Given the description of an element on the screen output the (x, y) to click on. 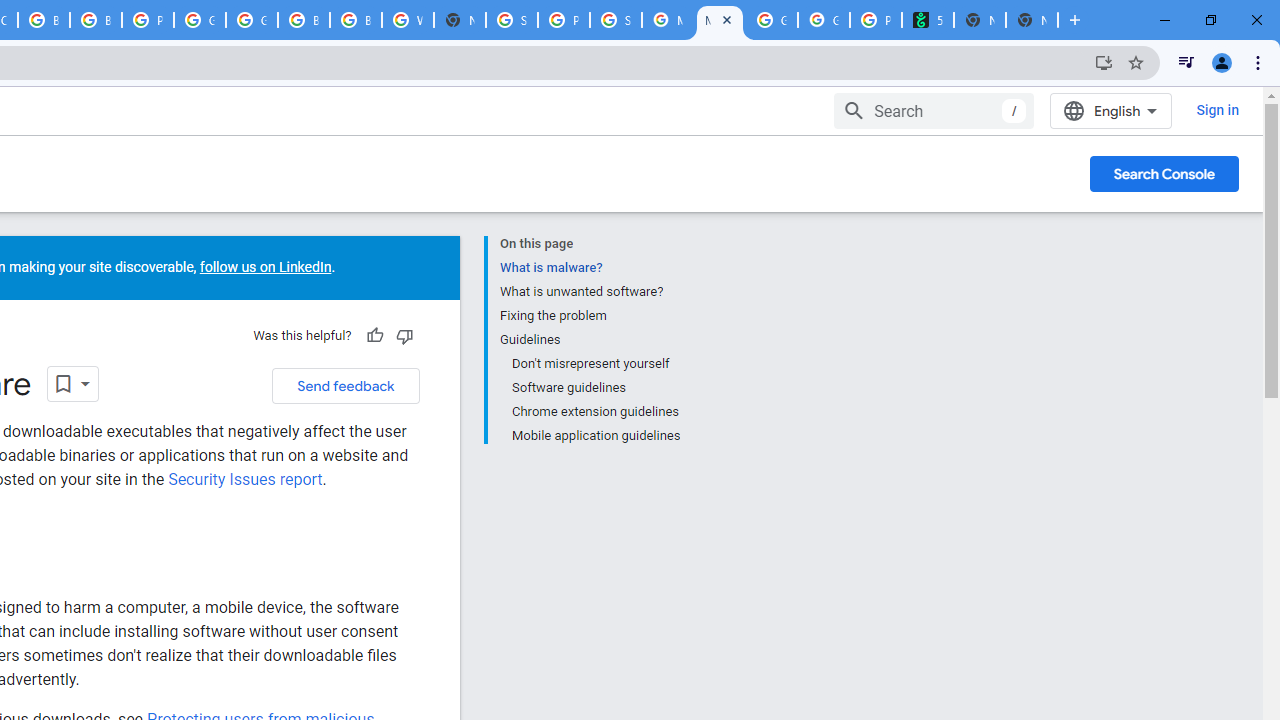
What is unwanted software? (589, 291)
Search Console (1164, 174)
Mobile application guidelines (594, 434)
Chrome extension guidelines (594, 412)
Helpful (374, 336)
Send feedback (345, 385)
Browse Chrome as a guest - Computer - Google Chrome Help (95, 20)
New Tab (1032, 20)
Browse Chrome as a guest - Computer - Google Chrome Help (303, 20)
